Given the description of an element on the screen output the (x, y) to click on. 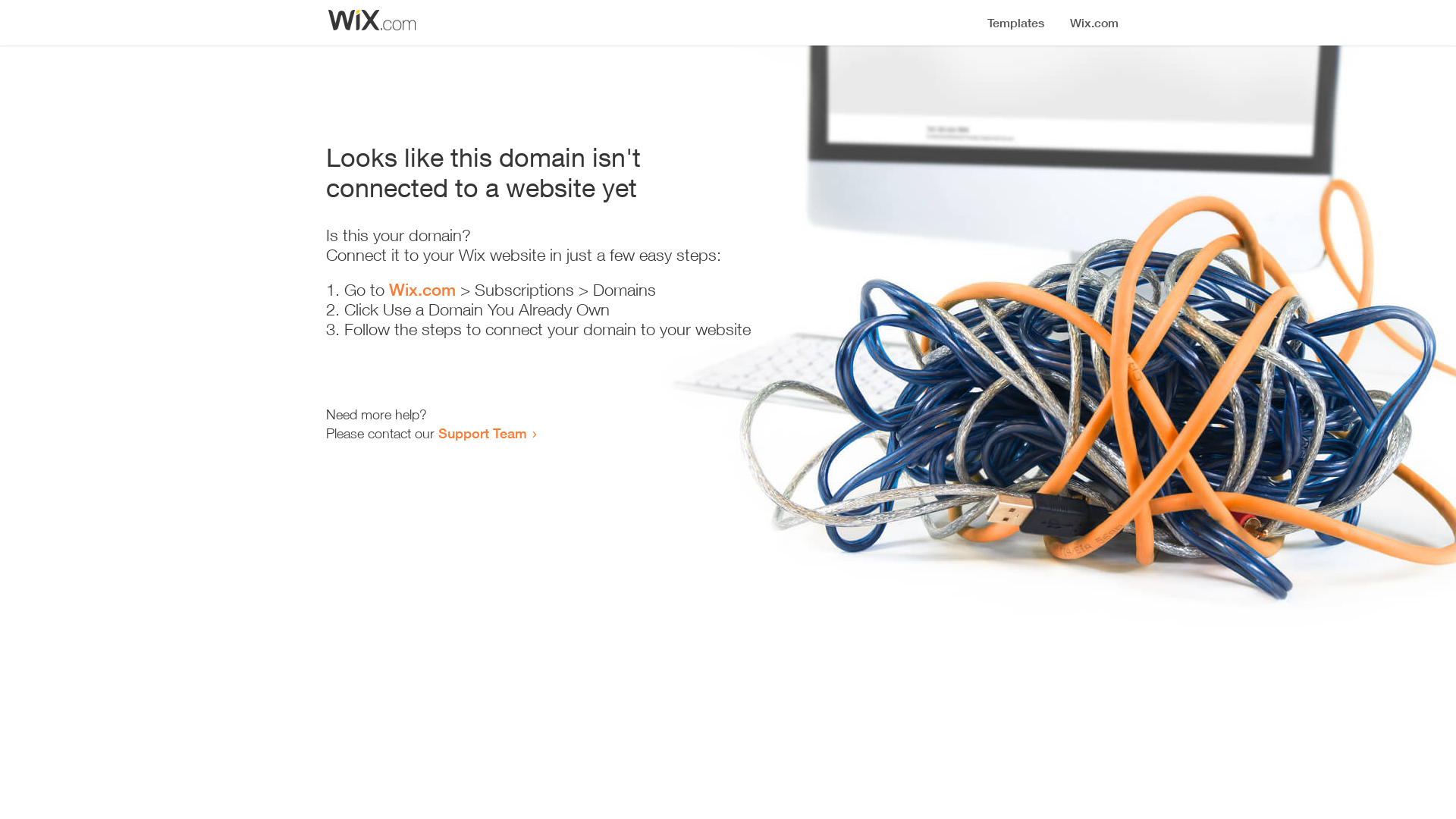
Wix.com Element type: text (422, 289)
Support Team Element type: text (482, 432)
